Given the description of an element on the screen output the (x, y) to click on. 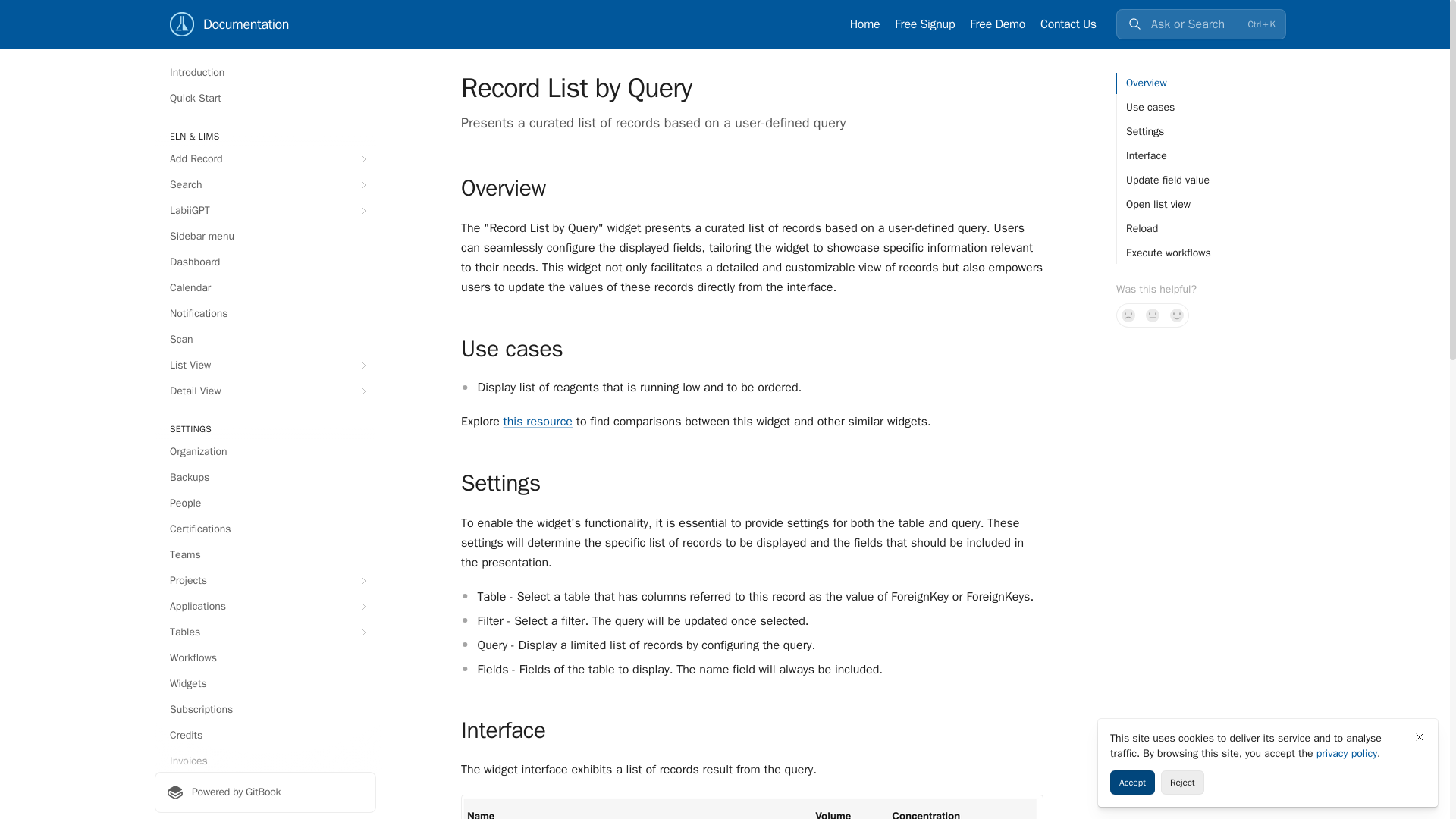
Introduction (264, 72)
Notifications (264, 313)
Quick Start (264, 98)
Search (264, 184)
Documentation (229, 24)
Not sure (1152, 315)
Sidebar menu (264, 236)
Calendar (264, 288)
Contact Us (1068, 24)
Add Record (264, 159)
Dashboard (264, 262)
Scan (264, 339)
List View (264, 364)
Free Signup (925, 24)
No (1128, 315)
